Given the description of an element on the screen output the (x, y) to click on. 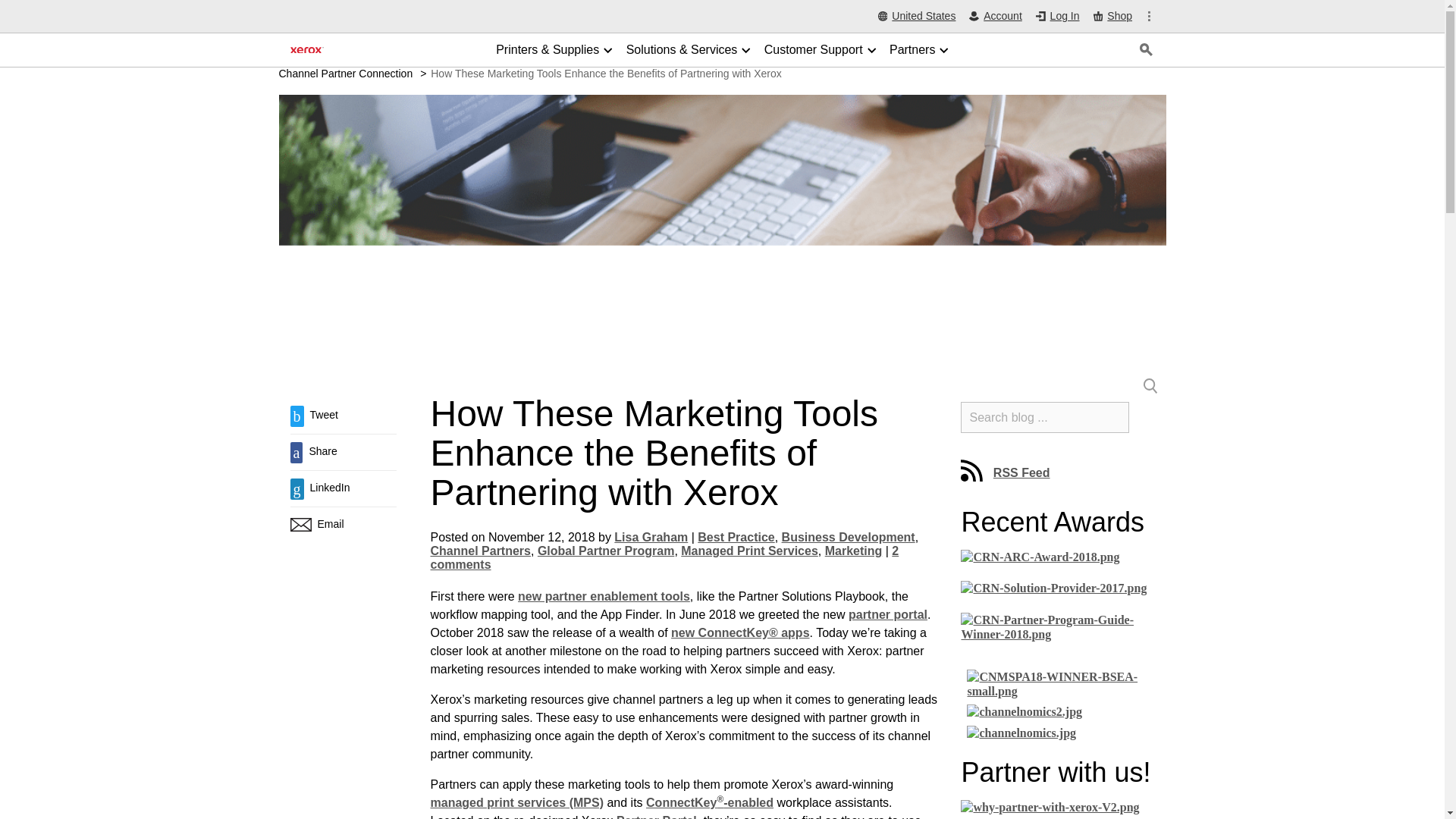
Log In (1057, 16)
United States (916, 16)
Posts by Lisa Graham (650, 536)
Shop (1112, 16)
Account (995, 16)
